Given the description of an element on the screen output the (x, y) to click on. 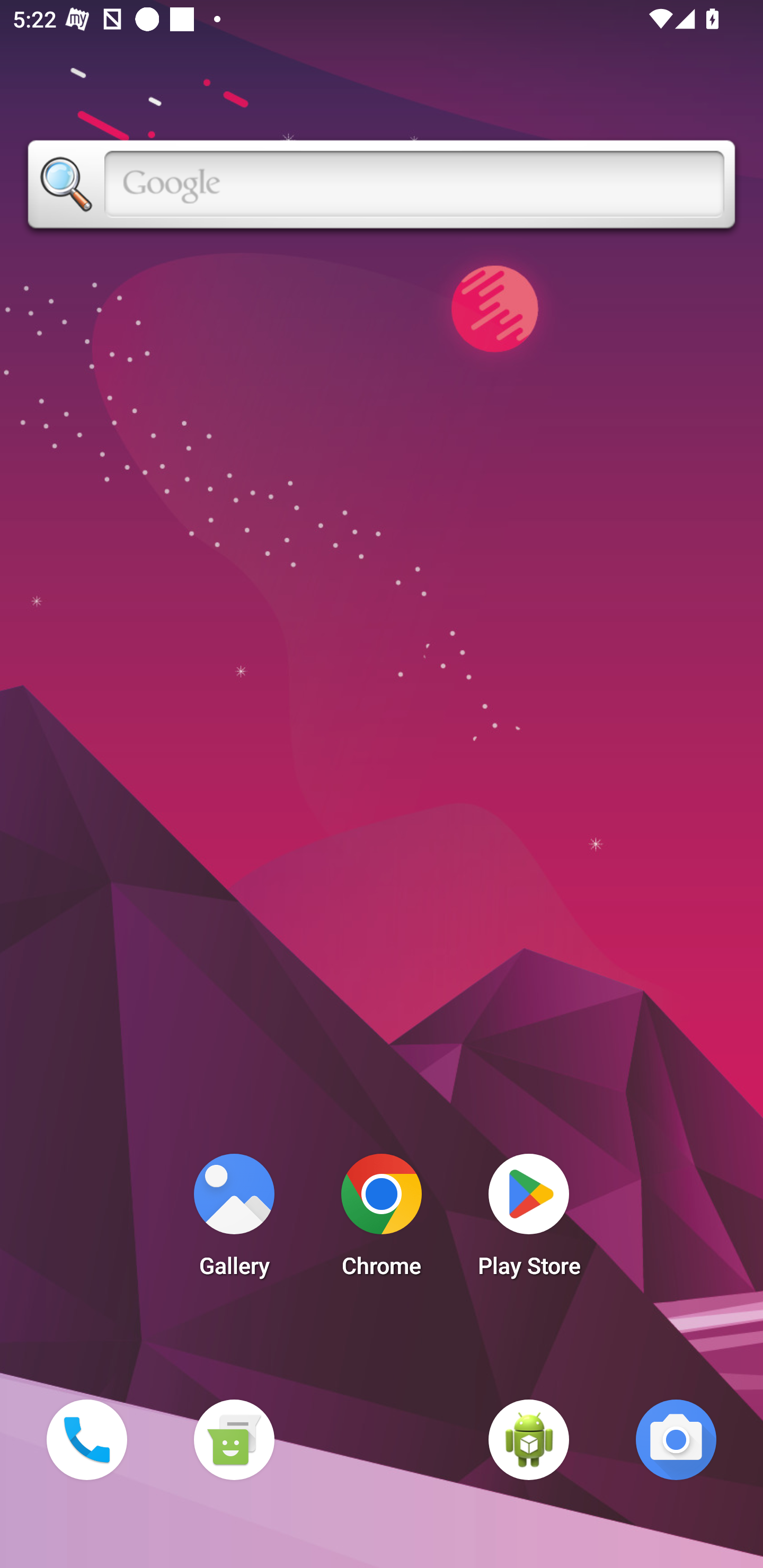
Gallery (233, 1220)
Chrome (381, 1220)
Play Store (528, 1220)
Phone (86, 1439)
Messaging (233, 1439)
WebView Browser Tester (528, 1439)
Camera (676, 1439)
